Given the description of an element on the screen output the (x, y) to click on. 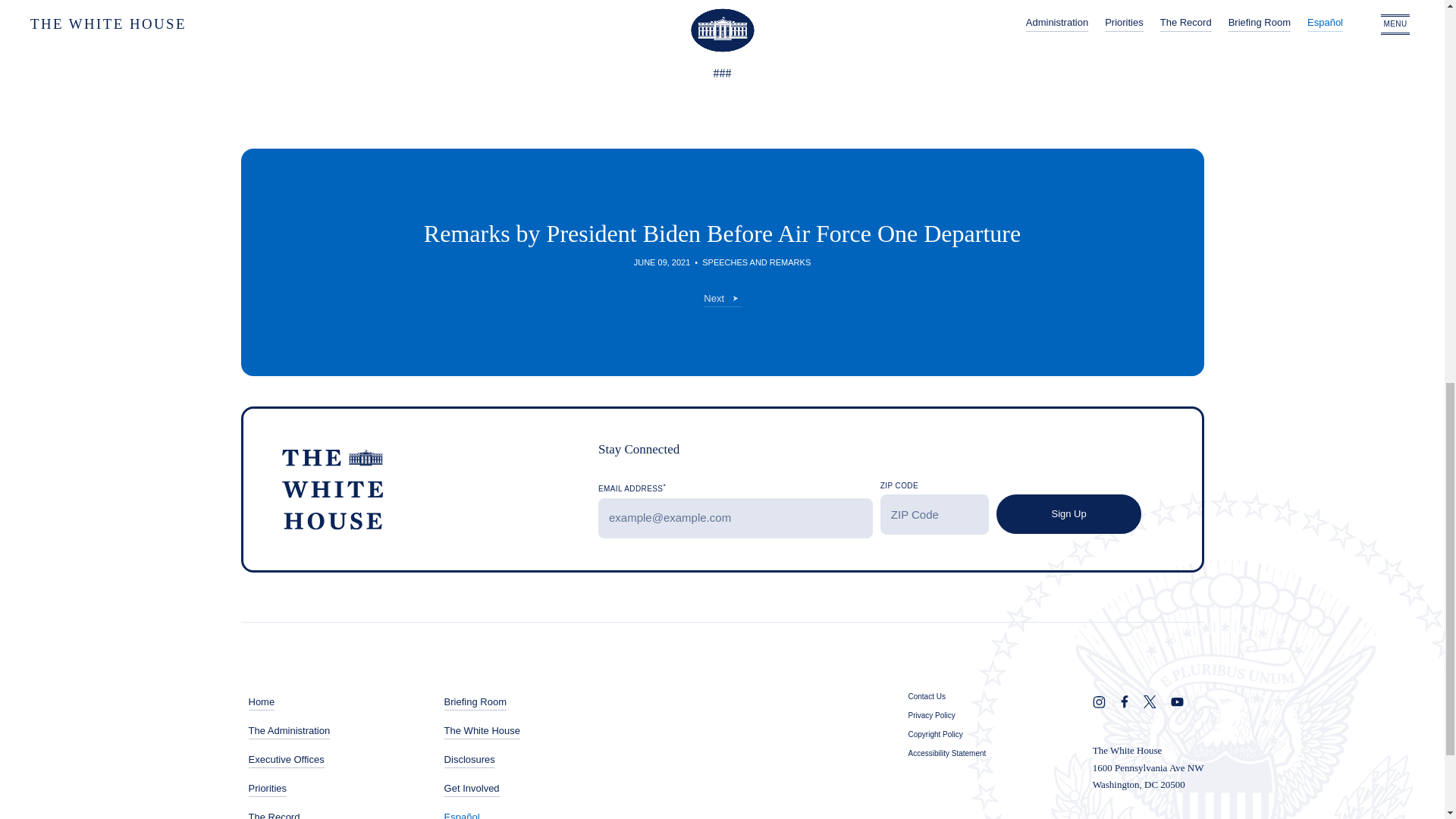
Sign Up (1068, 514)
